Given the description of an element on the screen output the (x, y) to click on. 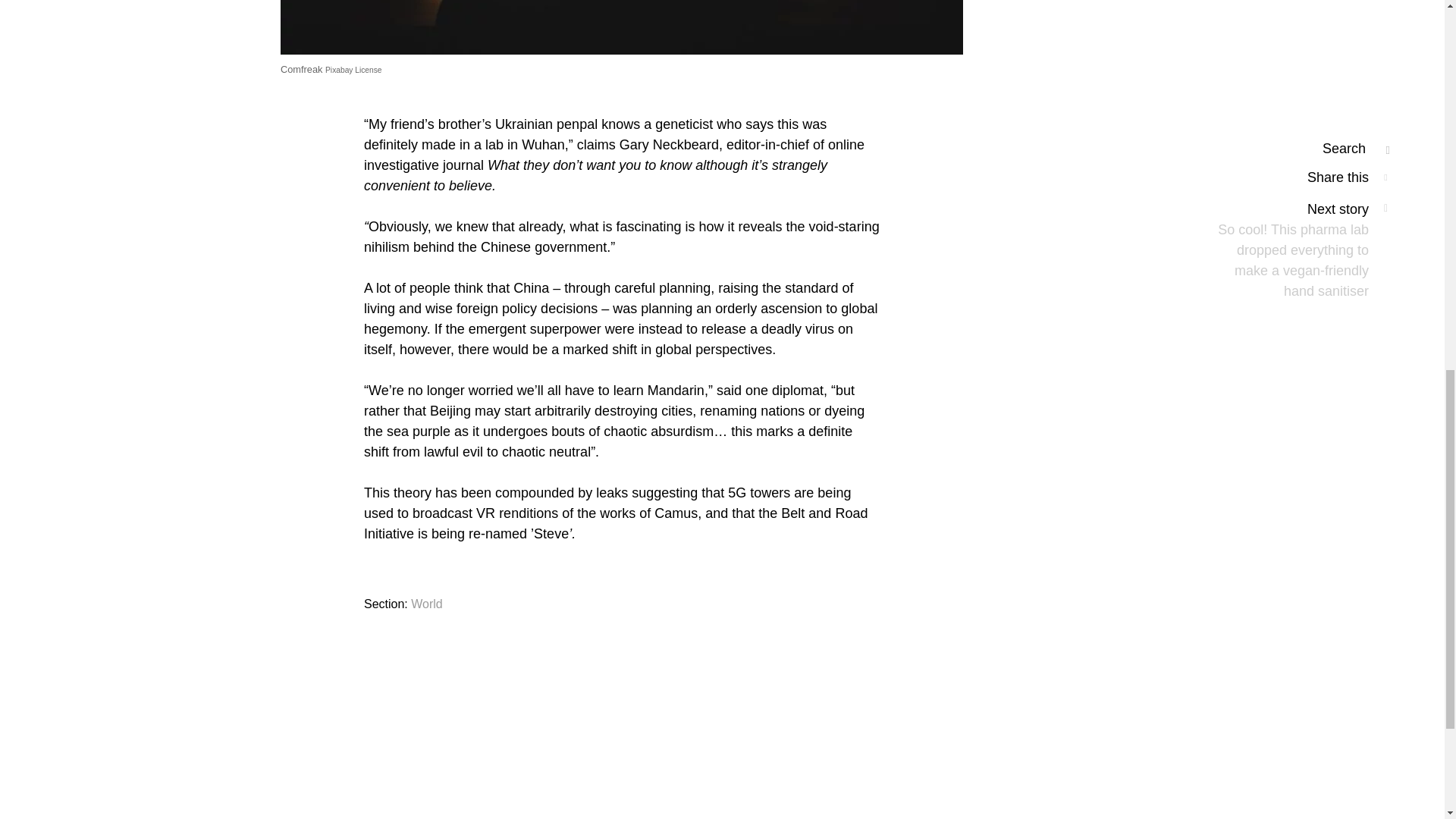
Facebook (545, 818)
World (426, 603)
Comfreak (301, 69)
